Given the description of an element on the screen output the (x, y) to click on. 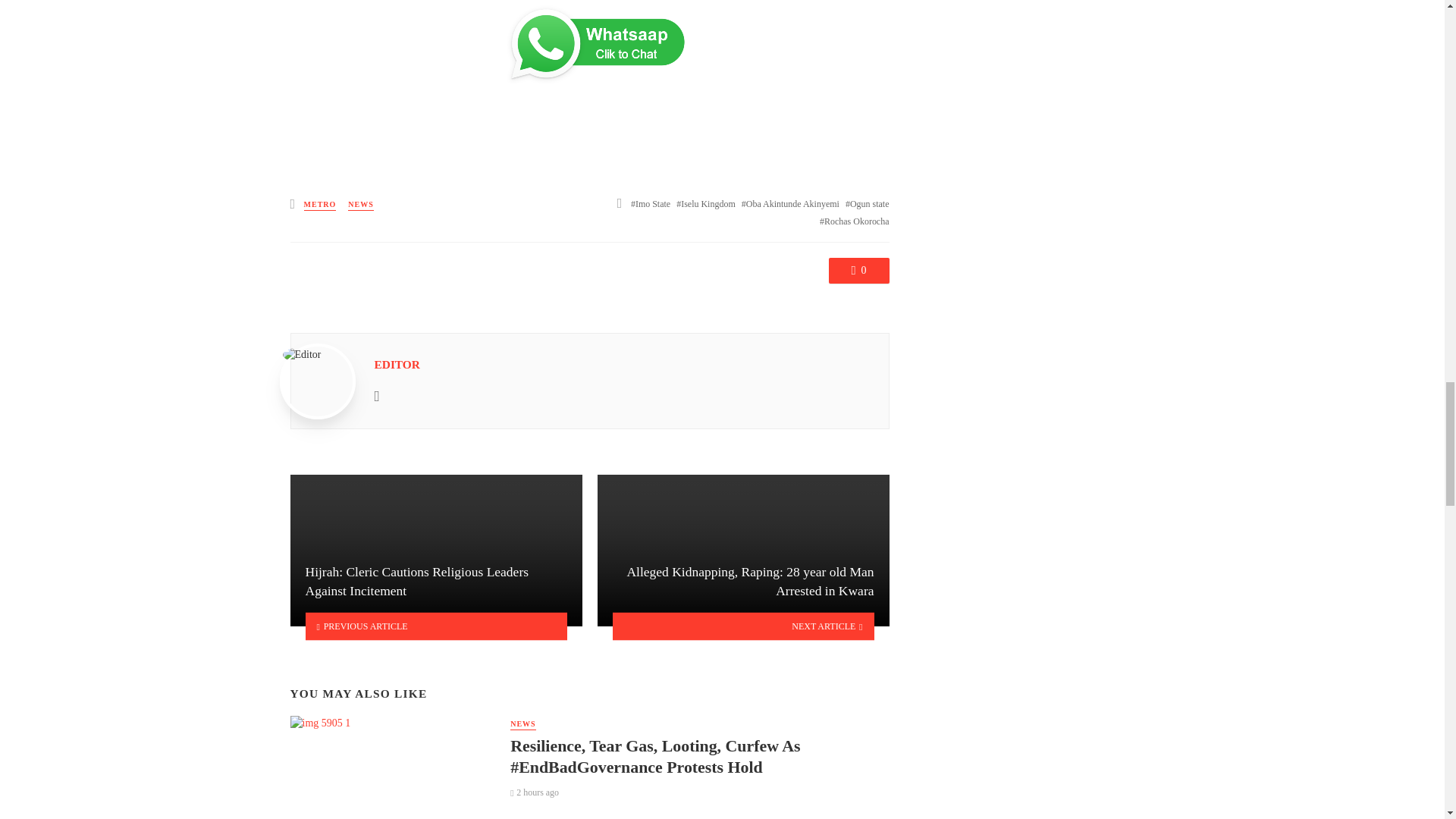
Posts by Editor (397, 364)
0 Comments (858, 270)
August 2, 2024 at 10:27 am (535, 792)
